Given the description of an element on the screen output the (x, y) to click on. 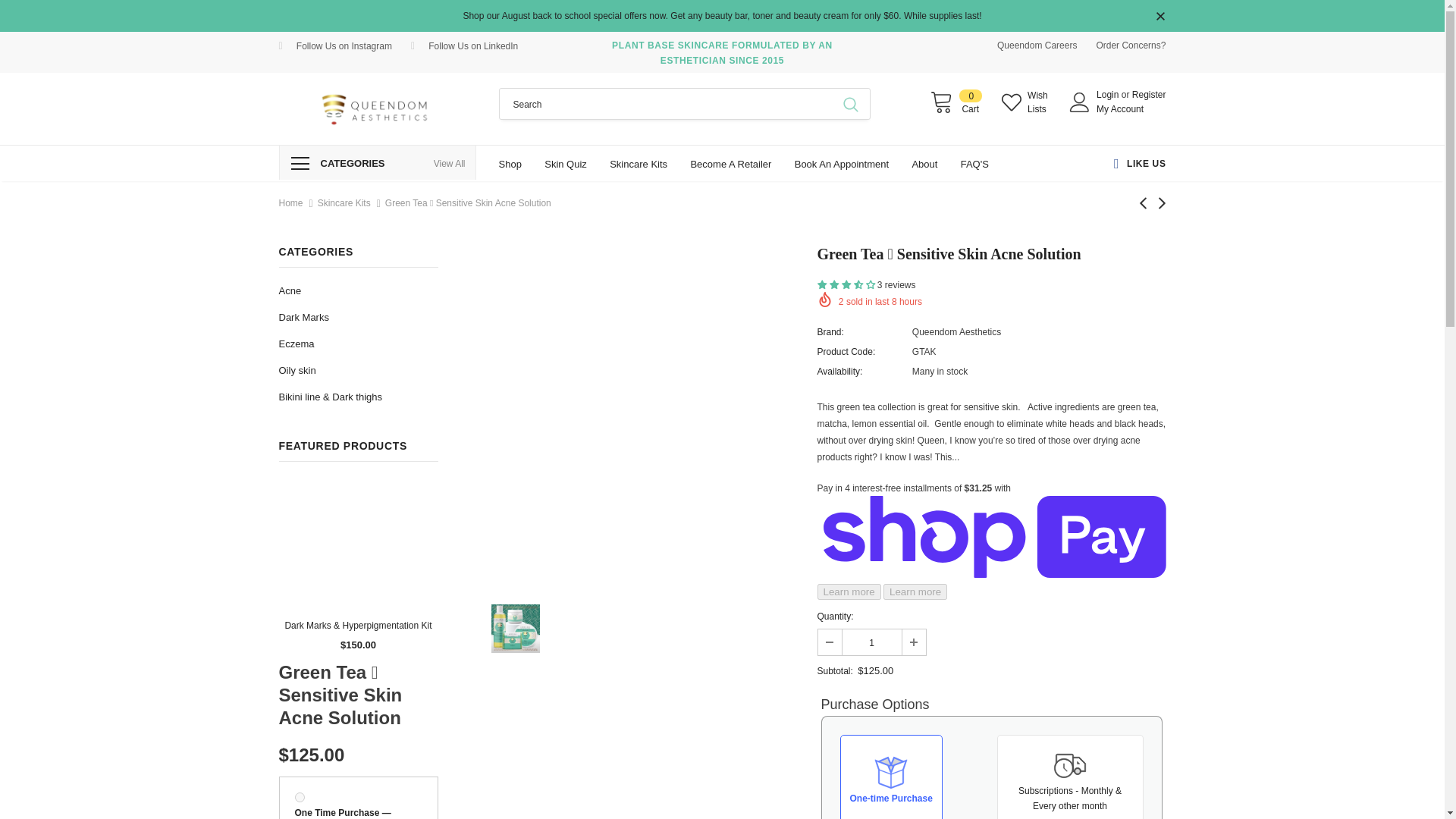
1 (871, 642)
Order Concerns? (1131, 45)
Skin Quiz (565, 163)
View All (449, 163)
My Account (1119, 109)
User Icon (1079, 102)
close (1160, 16)
Facebook (955, 101)
Wish Lists (1128, 163)
Queendom Careers (1027, 101)
View All (1037, 45)
Login (449, 163)
Cart (1108, 94)
Register (955, 101)
